Given the description of an element on the screen output the (x, y) to click on. 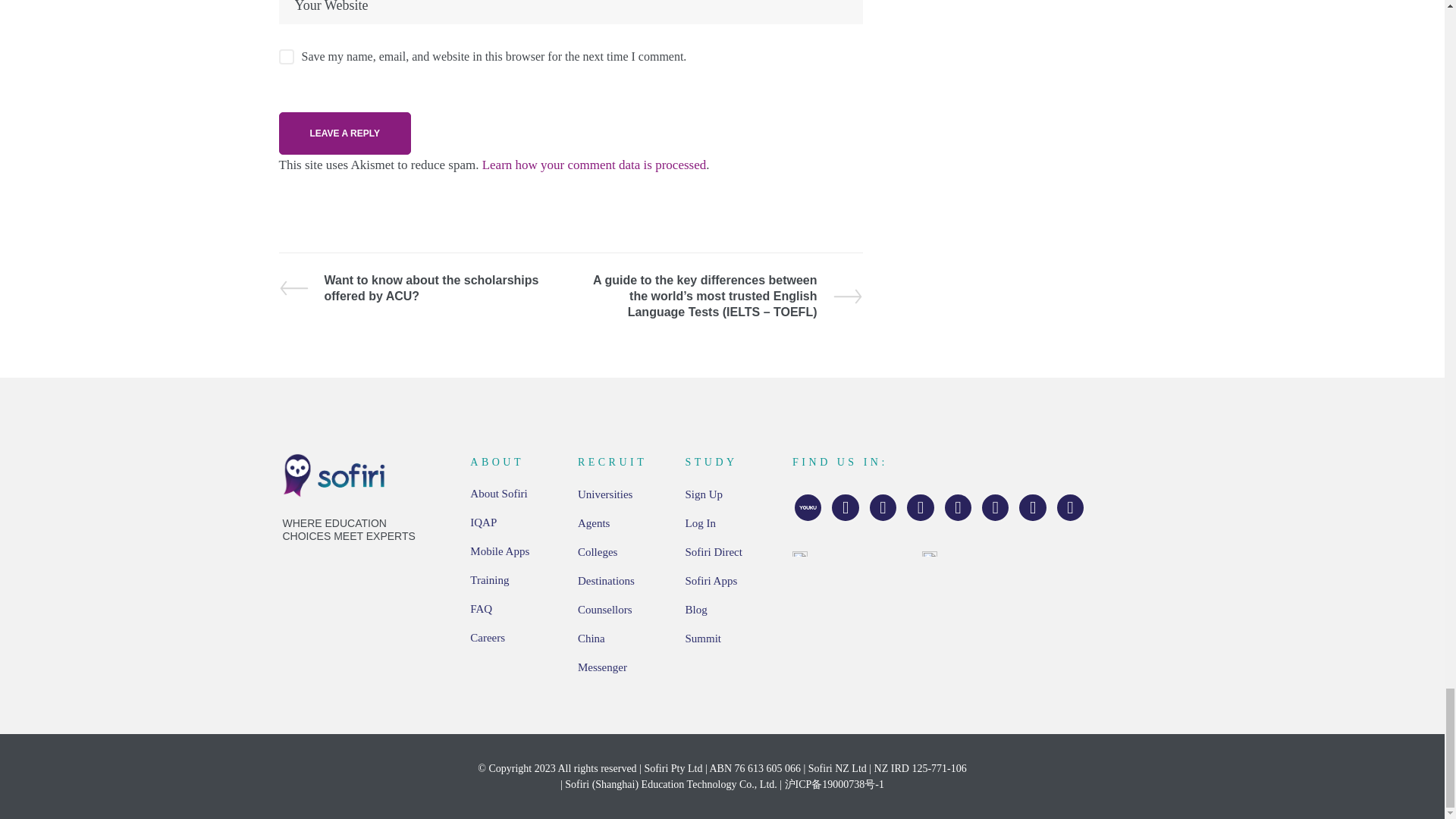
Leave a reply (344, 133)
